Given the description of an element on the screen output the (x, y) to click on. 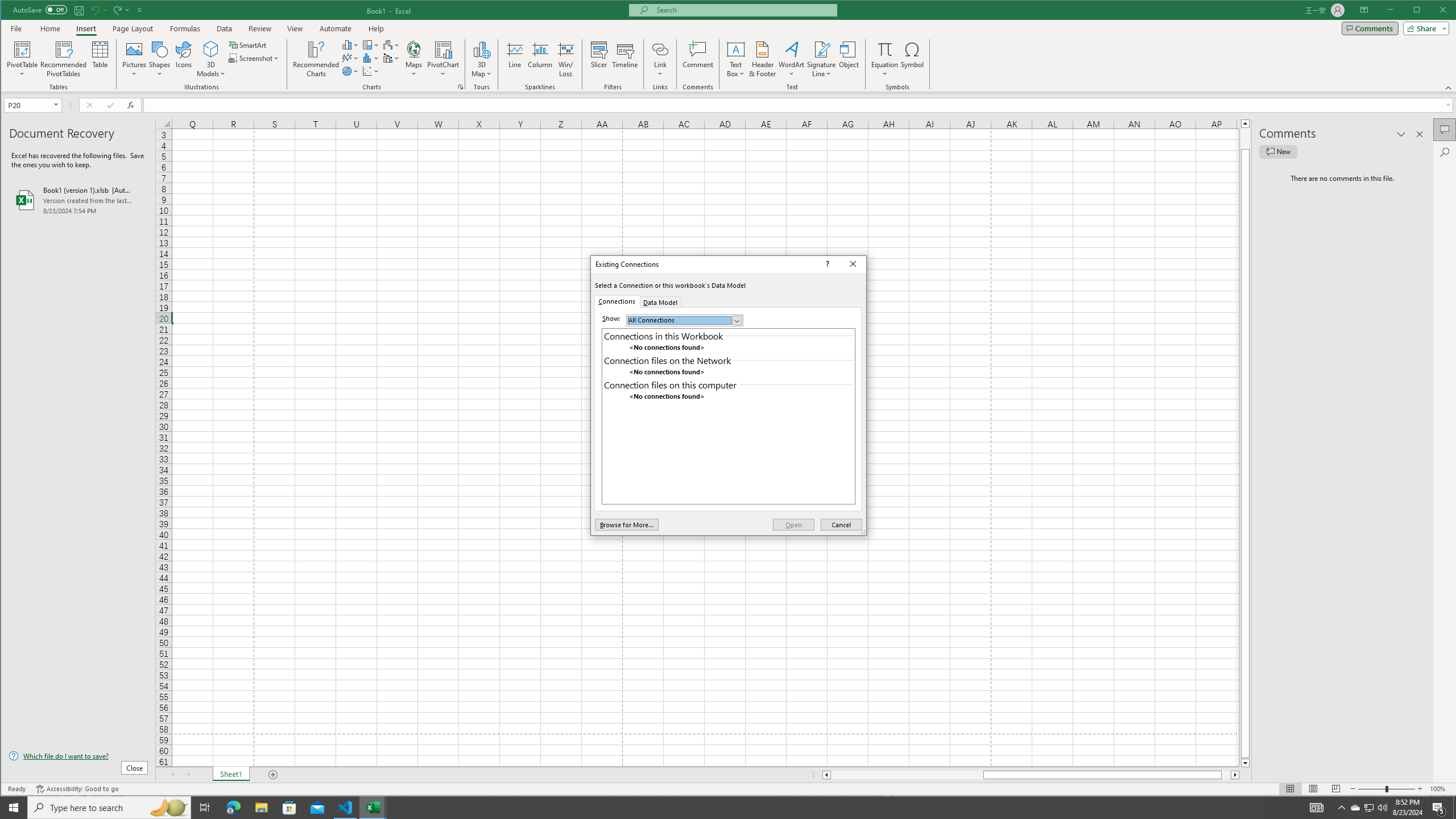
WordArt (791, 59)
Table (100, 59)
